Given the description of an element on the screen output the (x, y) to click on. 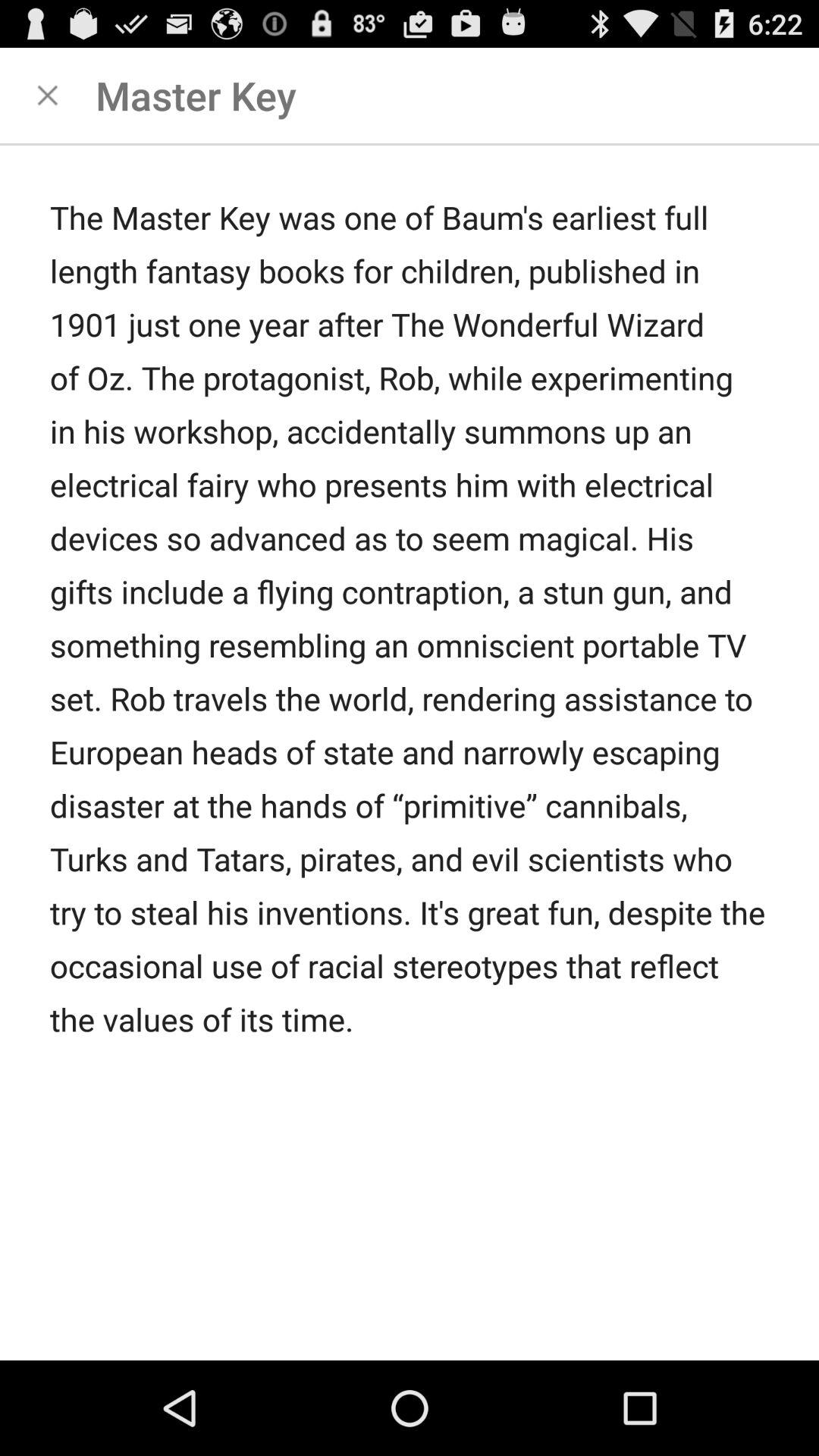
closes the page (47, 95)
